Given the description of an element on the screen output the (x, y) to click on. 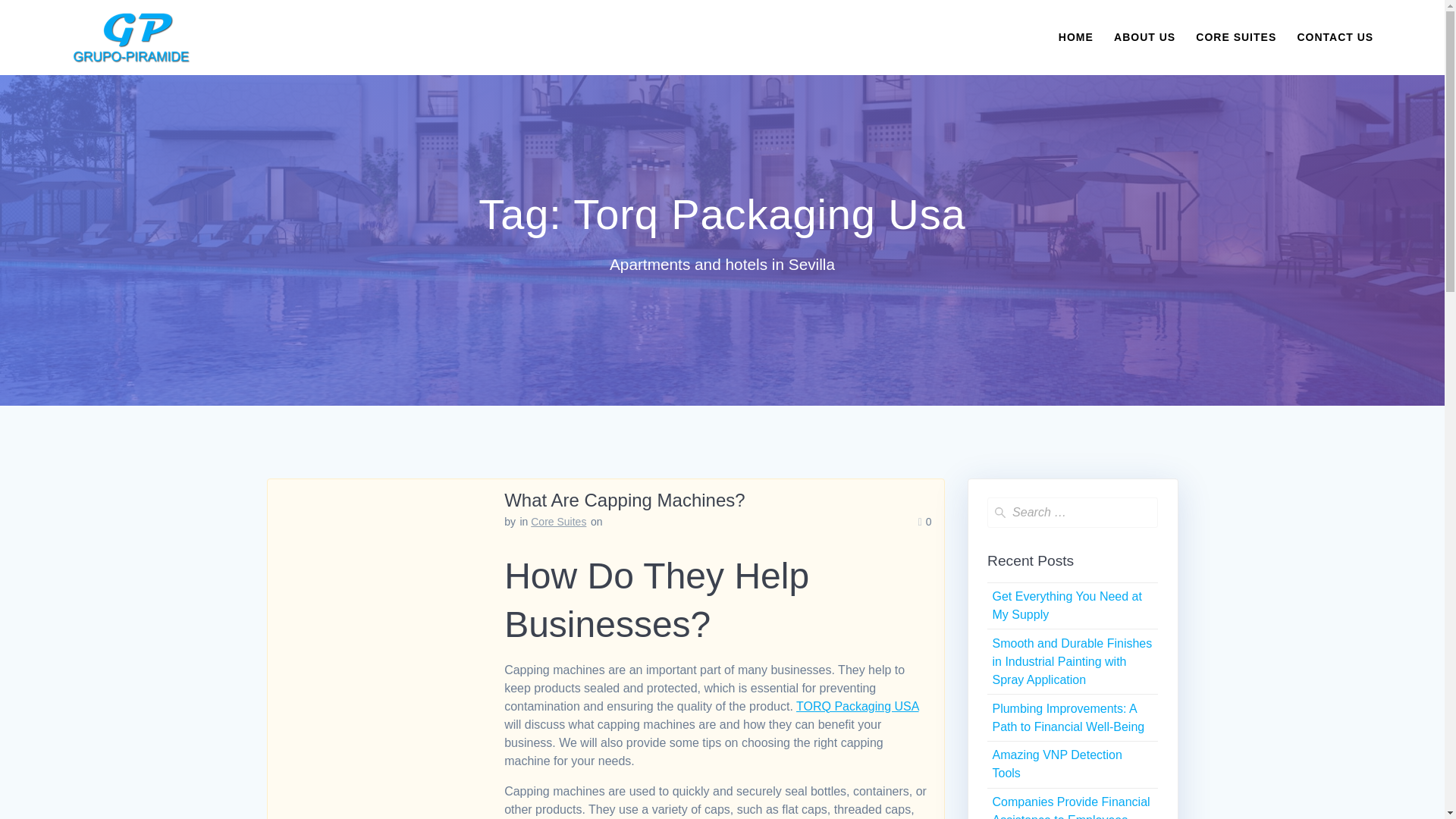
Plumbing Improvements: A Path to Financial Well-Being (1067, 717)
What Are Capping Machines? (624, 499)
Amazing VNP Detection Tools (1056, 763)
ABOUT US (1143, 36)
TORQ Packaging USA (857, 706)
Get Everything You Need at My Supply (1066, 604)
Core Suites (558, 521)
CONTACT US (1335, 36)
HOME (1075, 36)
CORE SUITES (1235, 36)
